Given the description of an element on the screen output the (x, y) to click on. 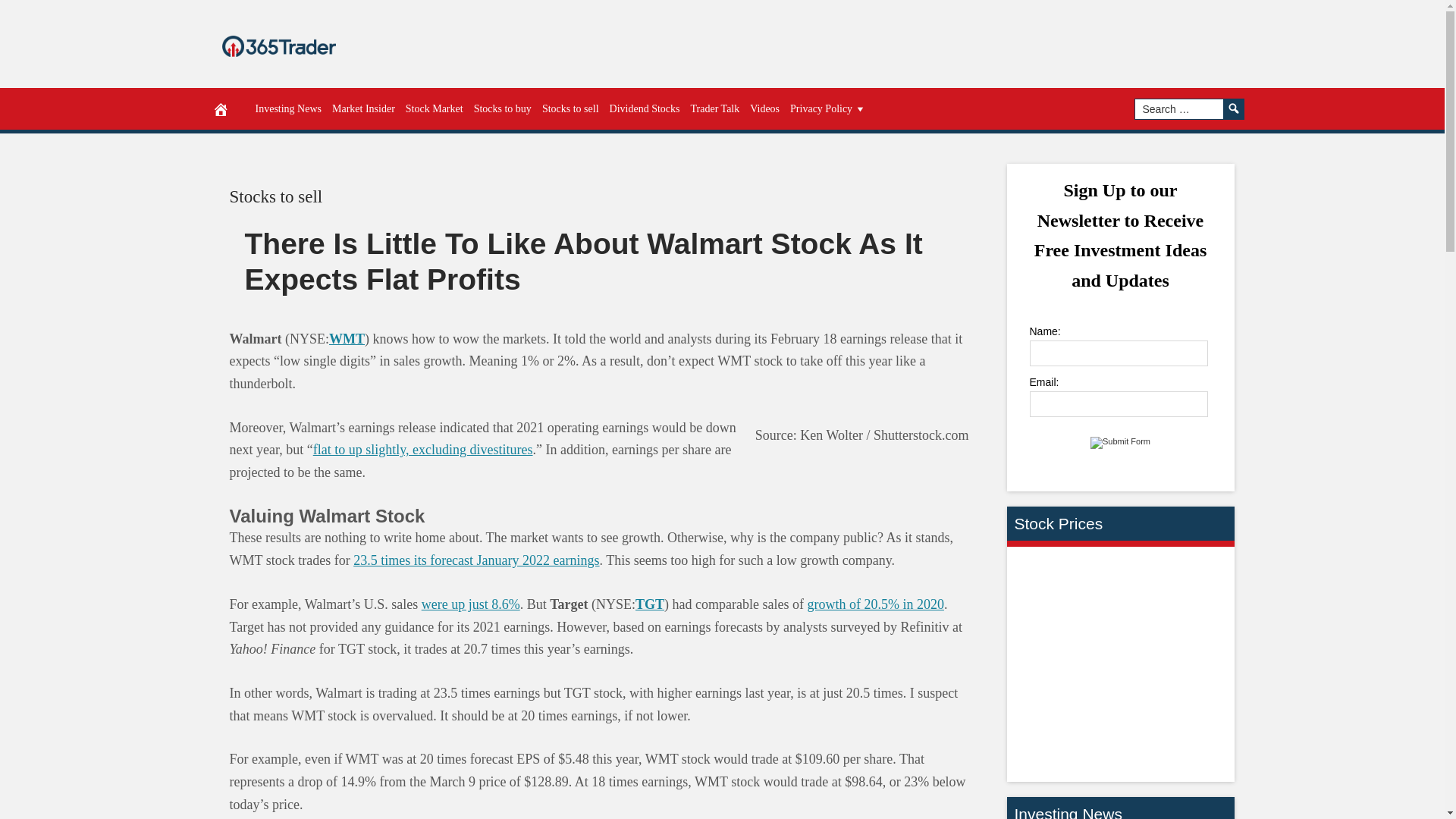
Stock Market (434, 108)
Dividend Stocks (644, 108)
Videos (764, 108)
Investing News (288, 108)
Stocks to sell (570, 108)
Trader Talk (715, 108)
Market Insider (363, 108)
Privacy Policy (828, 108)
WMT (347, 338)
Stocks to buy (502, 108)
